Given the description of an element on the screen output the (x, y) to click on. 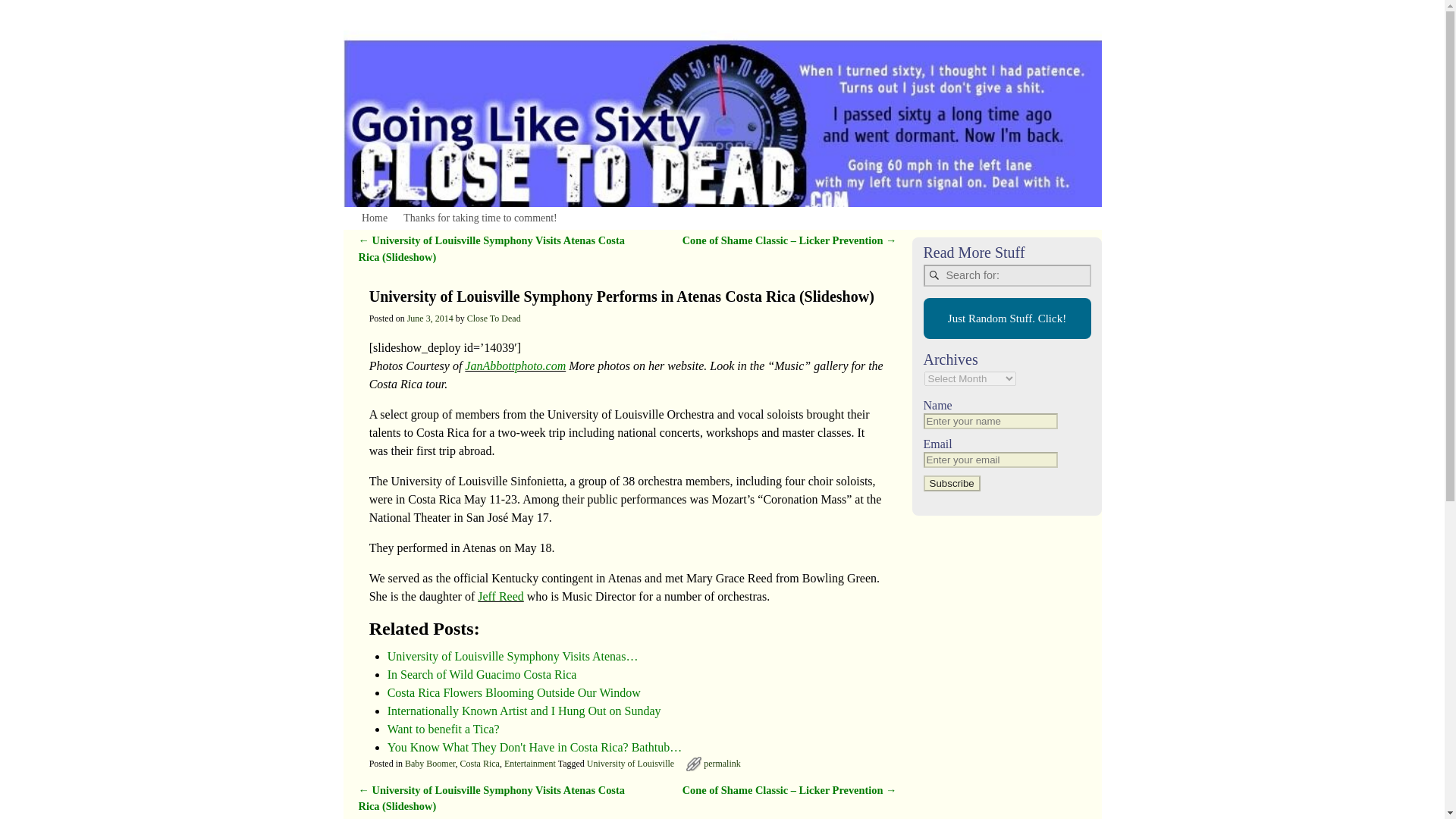
University of Louisville (630, 763)
View all posts by Close To Dead (494, 317)
Just Random Stuff. Click! (1006, 318)
Home (373, 218)
Jeff Reed (500, 595)
permalink (722, 763)
Internationally Known Artist and I Hung Out on Sunday (524, 710)
JanAbbottphoto.com (515, 365)
Want to benefit a Tica? (443, 728)
June 3, 2014 (429, 317)
Costa Rica (479, 763)
Subscribe (951, 482)
Home (373, 218)
Thanks for taking time to comment! (481, 218)
Costa Rica Flowers Blooming Outside Our Window (513, 692)
